Given the description of an element on the screen output the (x, y) to click on. 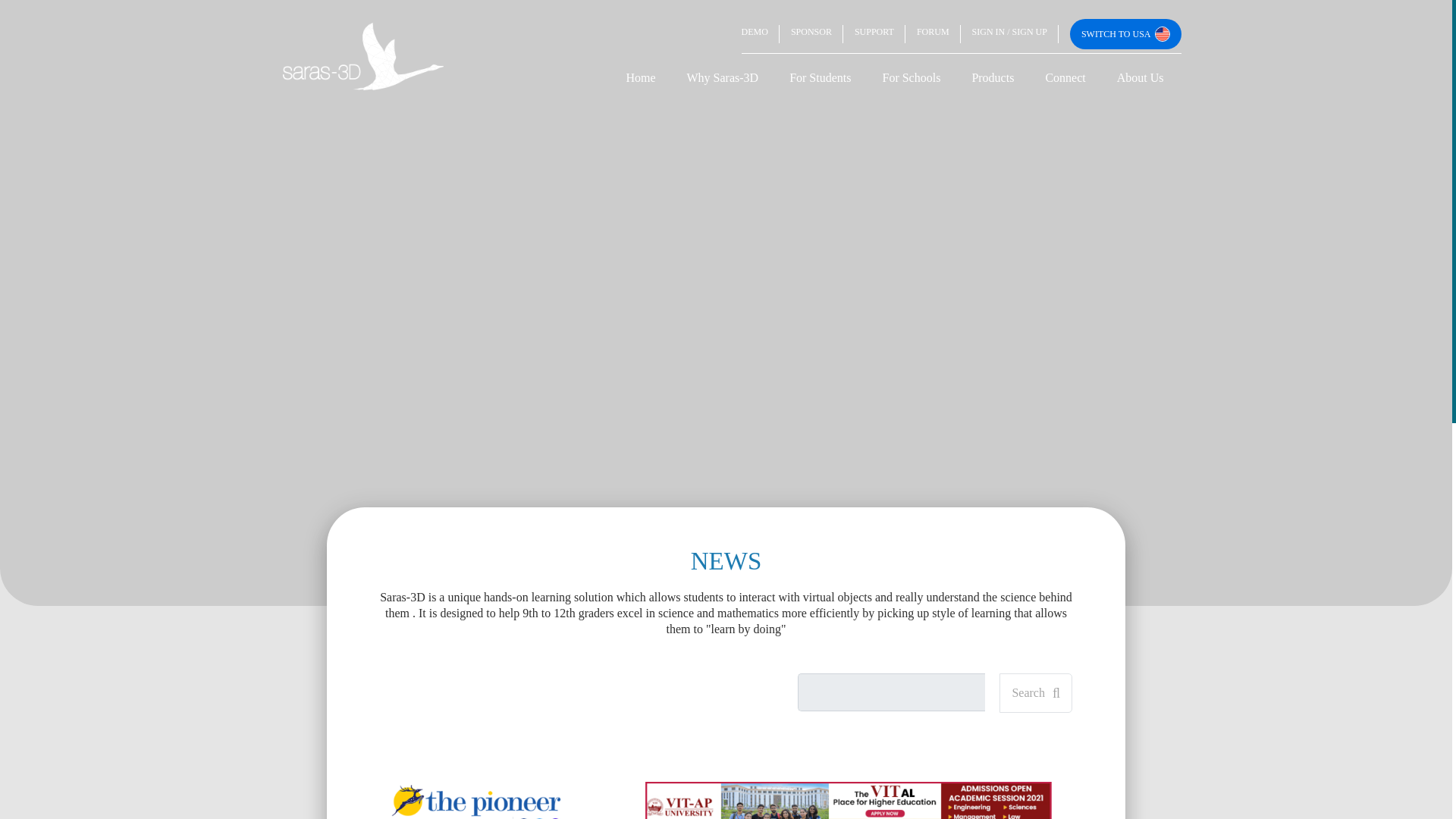
Search (1034, 692)
SUPPORT (874, 33)
Products (992, 78)
Connect (1064, 78)
About Us (1140, 78)
SPONSOR (810, 33)
For Students (820, 78)
FORUM (932, 33)
For Schools (910, 78)
SWITCH TO USA (1125, 33)
